Given the description of an element on the screen output the (x, y) to click on. 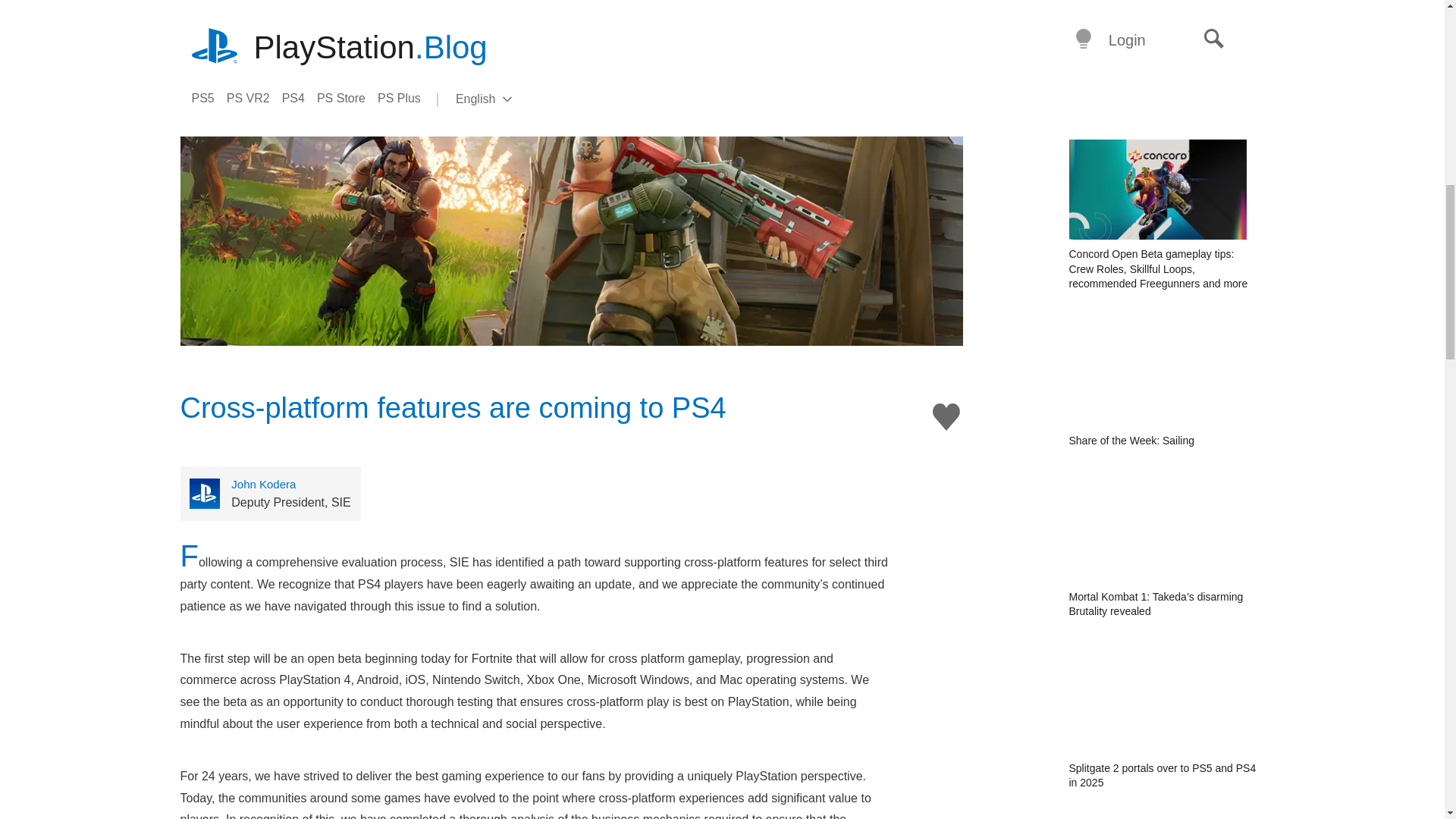
Like this (946, 416)
